Given the description of an element on the screen output the (x, y) to click on. 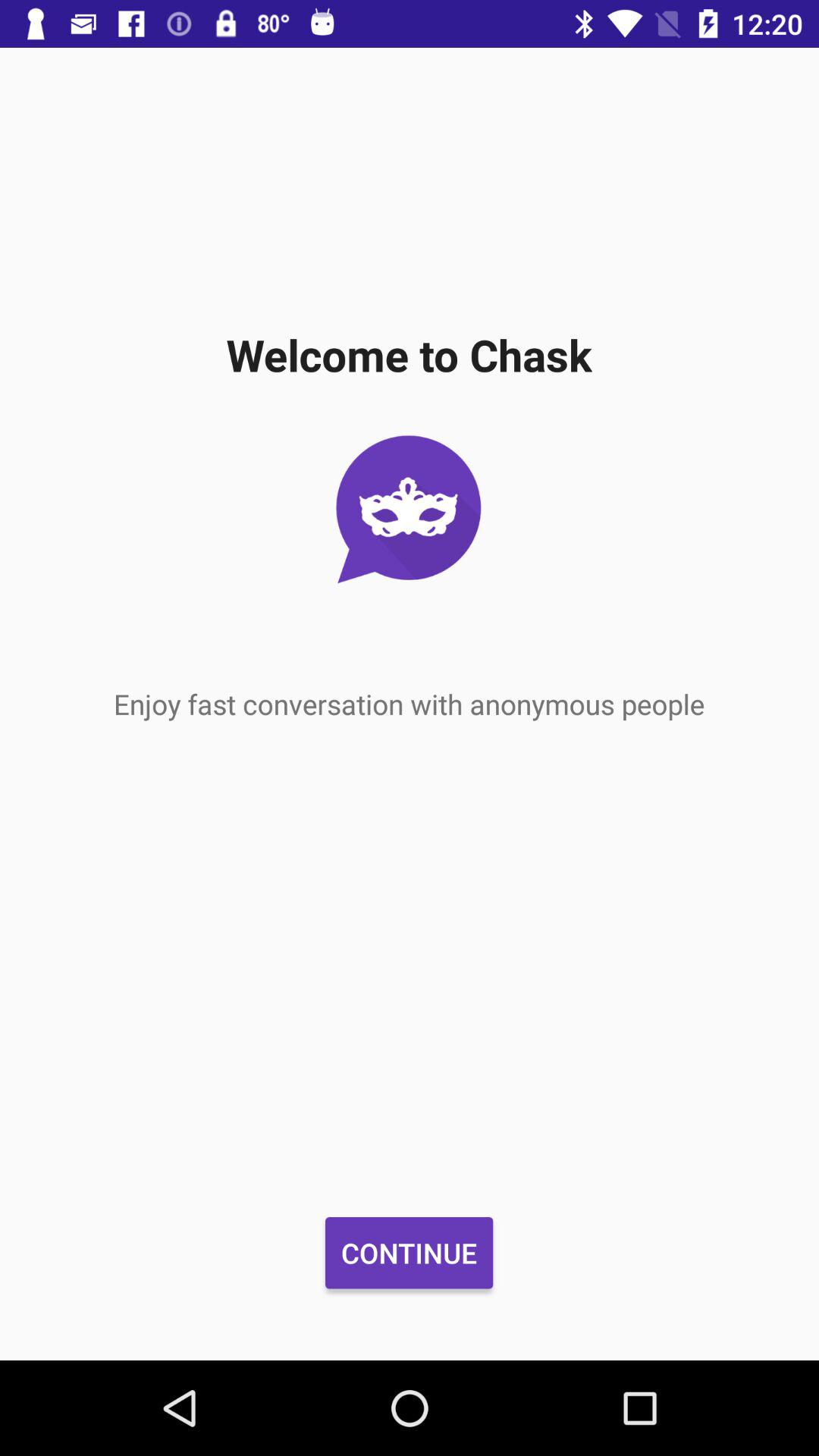
scroll to the continue icon (409, 1252)
